Given the description of an element on the screen output the (x, y) to click on. 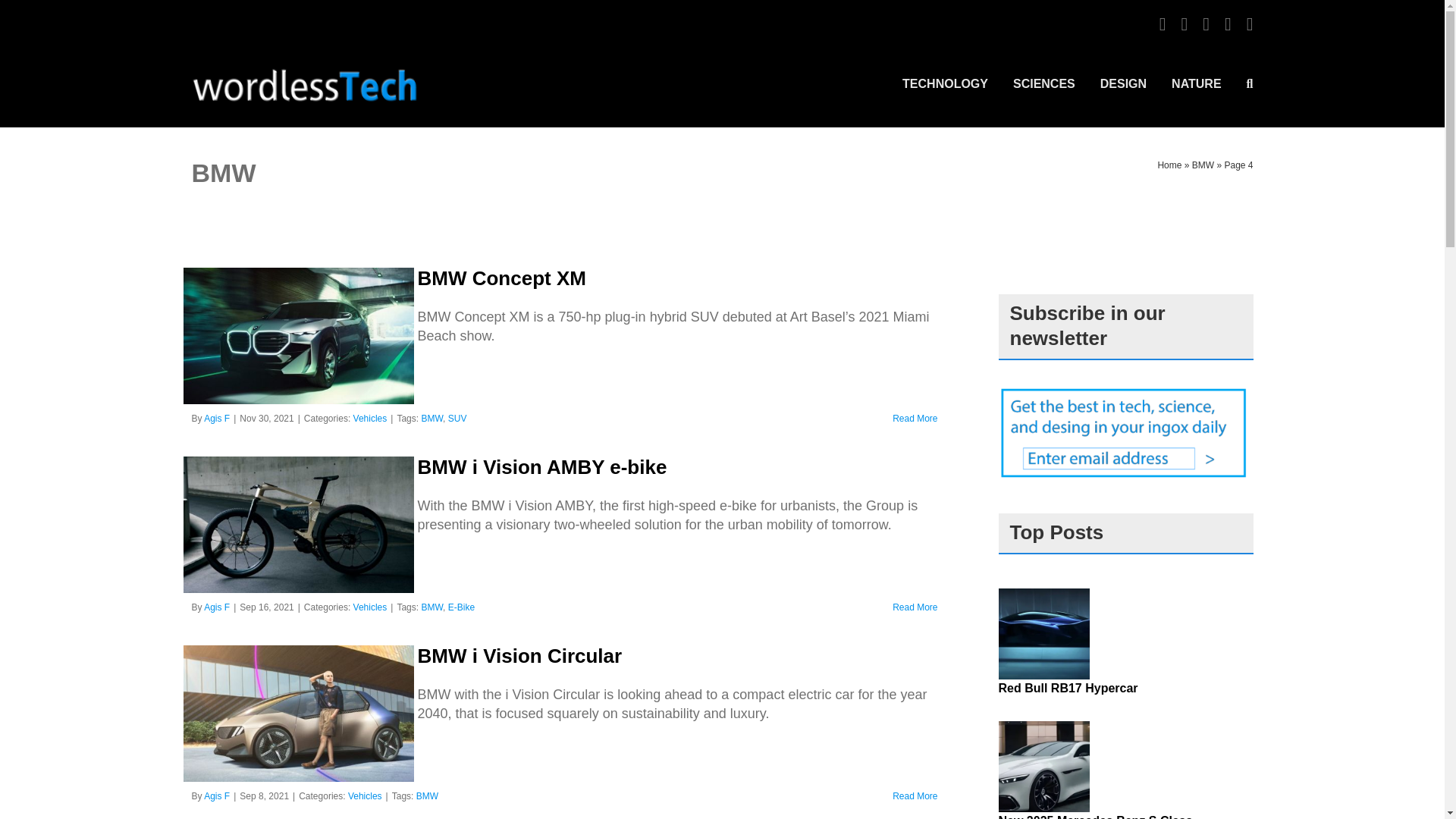
Facebook (1184, 24)
BMW Concept XM 1 (298, 335)
BMW i Vision AMBY e-bike 2 (298, 524)
Rss (1227, 24)
Facebook (1184, 24)
DESIGN (1123, 83)
Rss (1227, 24)
Twitter (1205, 24)
Pinterest (1162, 24)
Posts by Agis F (216, 606)
Pinterest (1162, 24)
Posts by Agis F (216, 418)
TECHNOLOGY (945, 83)
SCIENCES (1044, 83)
Search (1249, 83)
